Given the description of an element on the screen output the (x, y) to click on. 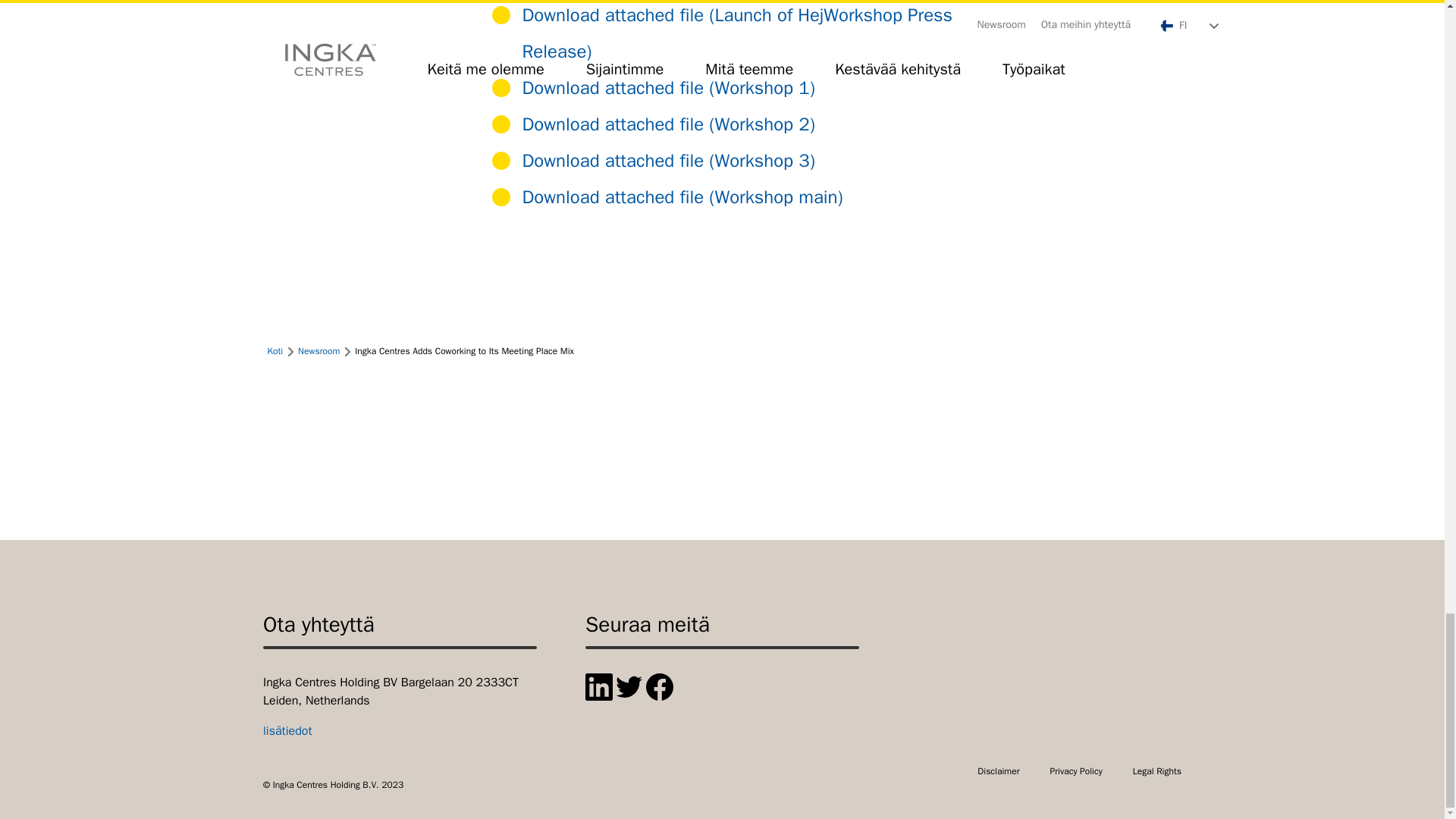
Privacy Policy (1075, 771)
Legal Rights (1156, 771)
Newsroom (318, 350)
Koti (274, 350)
Disclaimer (997, 771)
